Given the description of an element on the screen output the (x, y) to click on. 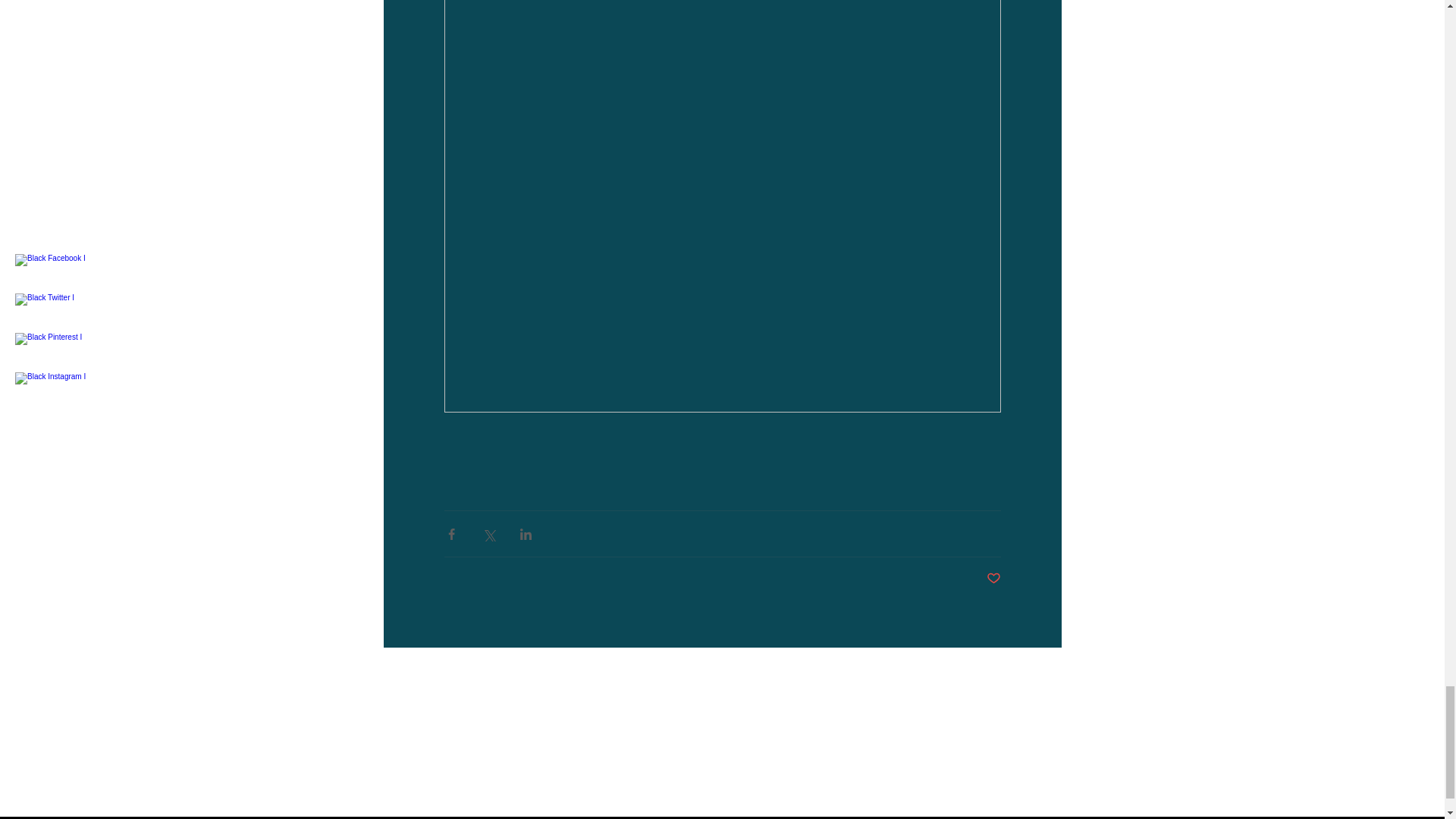
Post not marked as liked (992, 578)
